Given the description of an element on the screen output the (x, y) to click on. 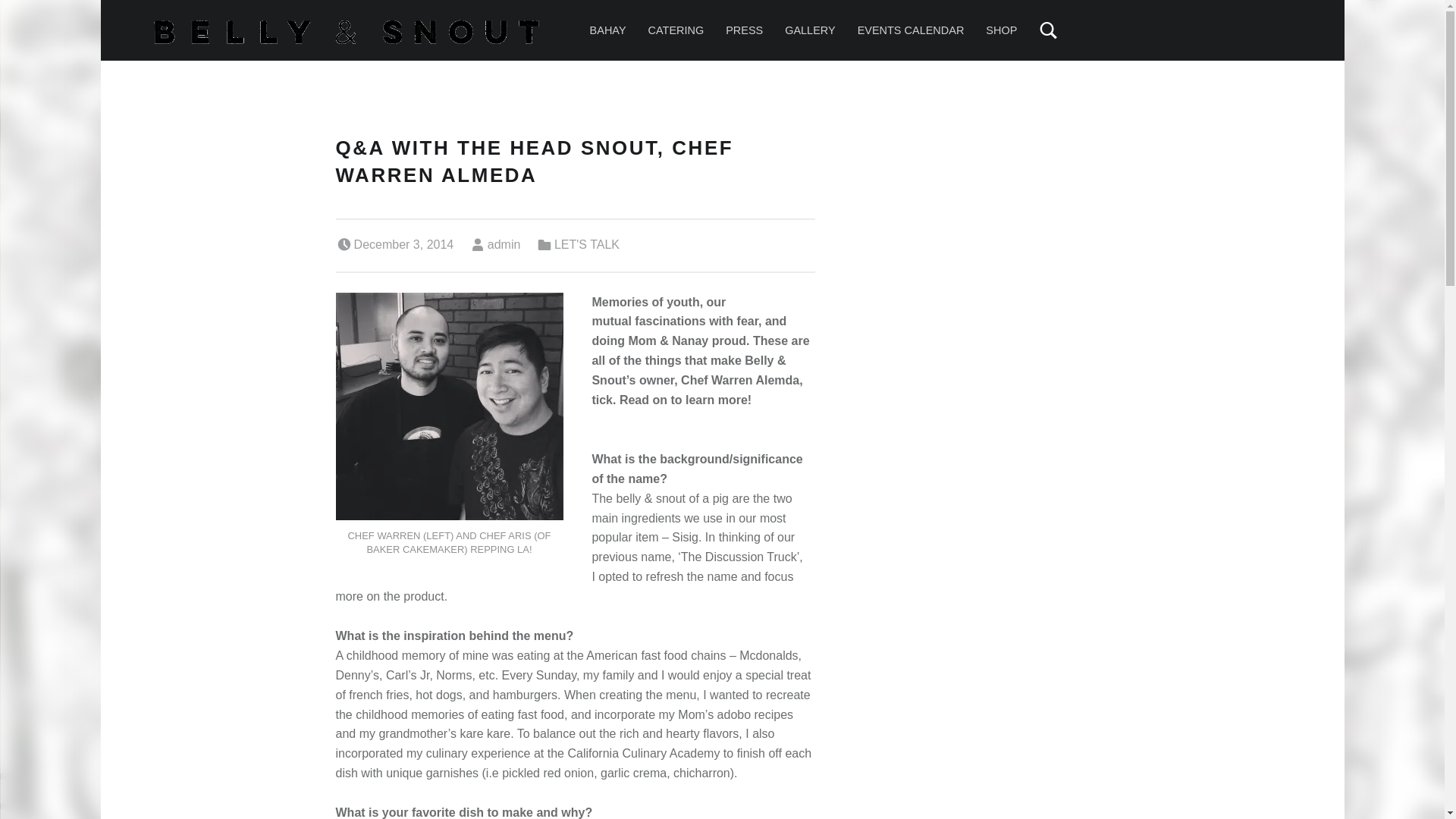
CATERING (675, 30)
EVENTS CALENDAR (910, 30)
December 3, 2014 (403, 244)
LET'S TALK (587, 244)
admin (504, 244)
Search (995, 18)
